Given the description of an element on the screen output the (x, y) to click on. 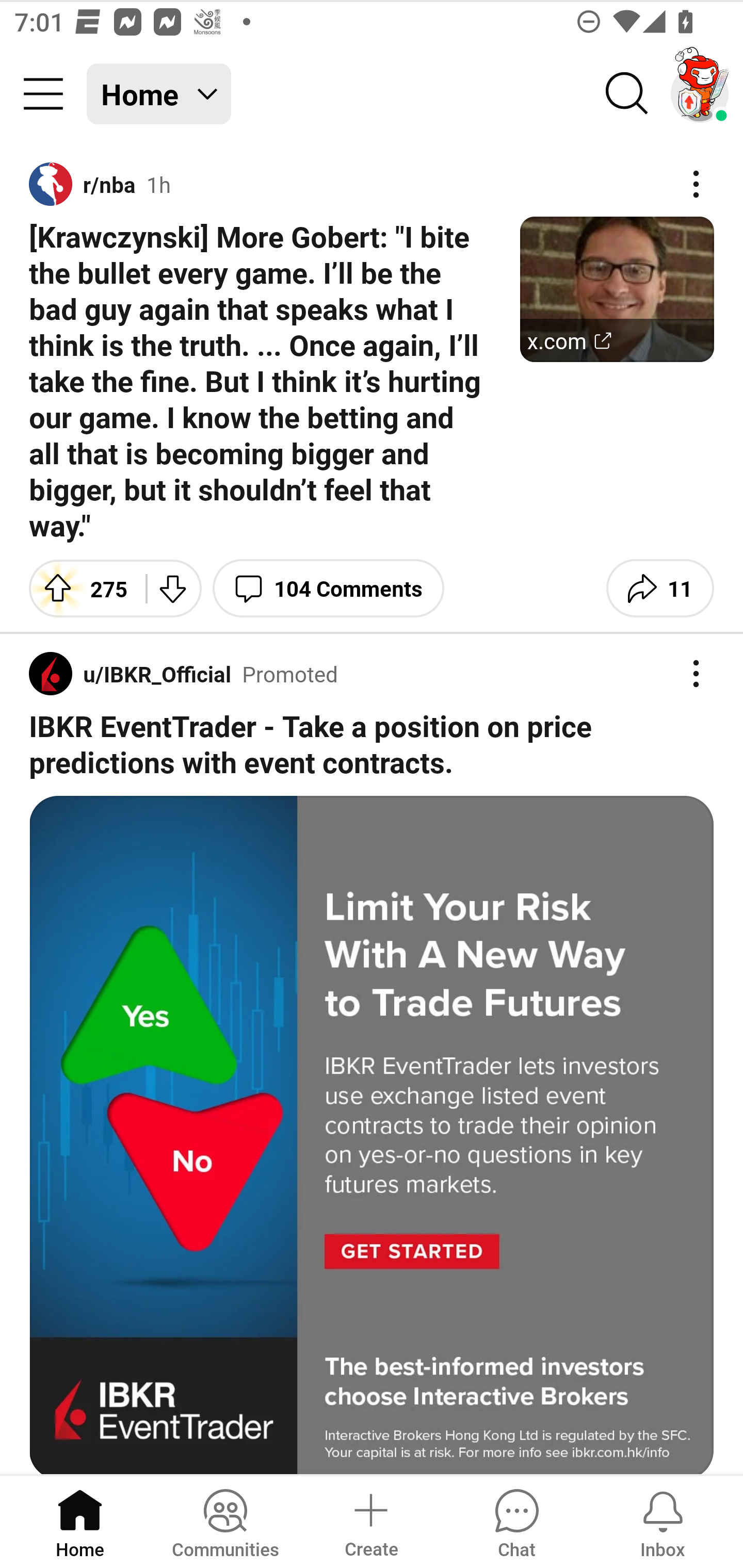
Community menu (43, 93)
Home Home feed (158, 93)
Search (626, 93)
TestAppium002 account (699, 93)
Home (80, 1520)
Communities (225, 1520)
Create a post Create (370, 1520)
Chat (516, 1520)
Inbox (662, 1520)
